Given the description of an element on the screen output the (x, y) to click on. 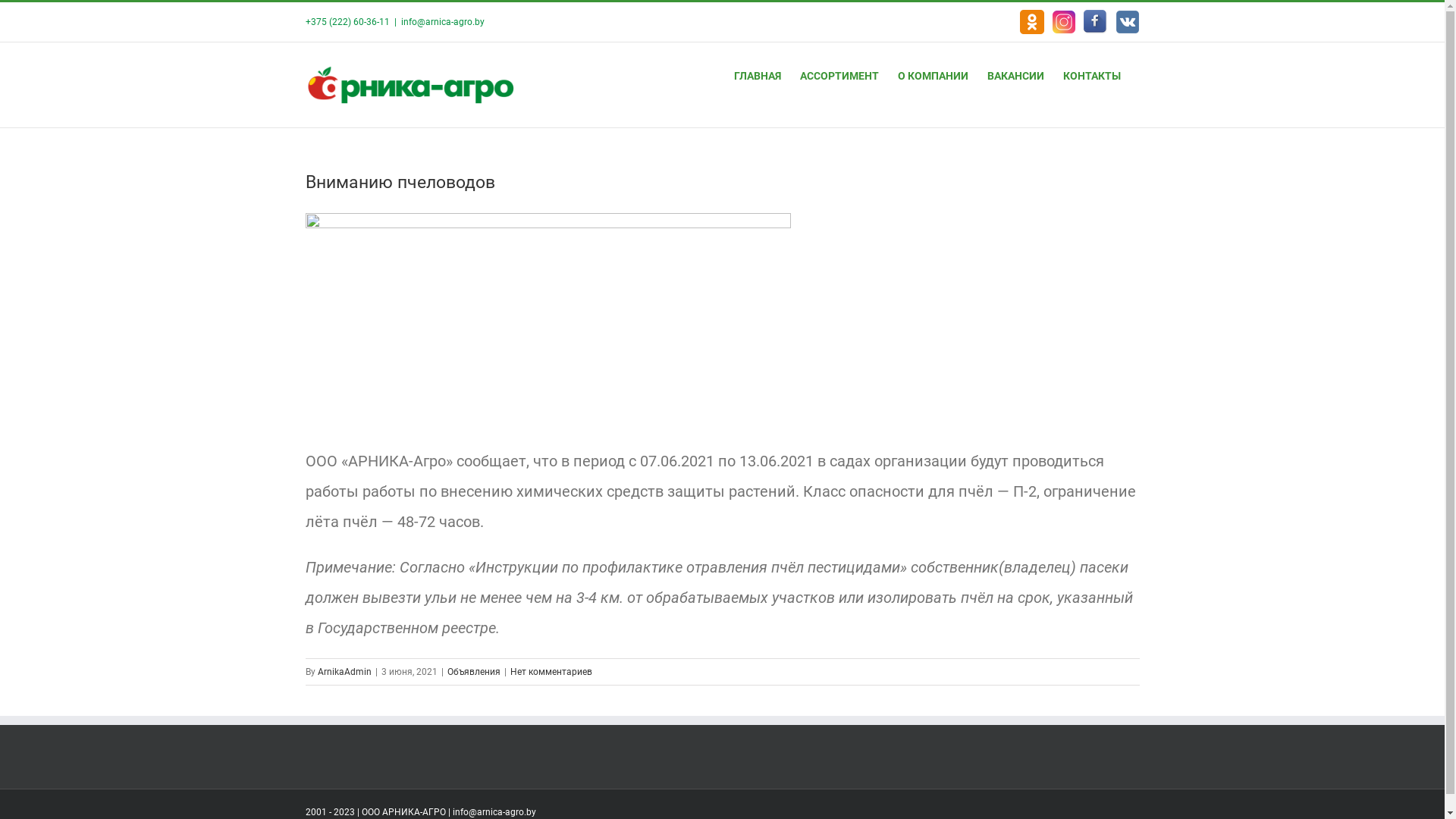
info@arnica-agro.by Element type: text (441, 21)
ArnikaAdmin Element type: text (343, 671)
VK Element type: text (1126, 21)
Facebook Element type: text (1094, 21)
Instagram Element type: text (1063, 21)
info@arnica-agro.by Element type: text (493, 811)
Odnoklassniki Element type: text (1031, 21)
